Given the description of an element on the screen output the (x, y) to click on. 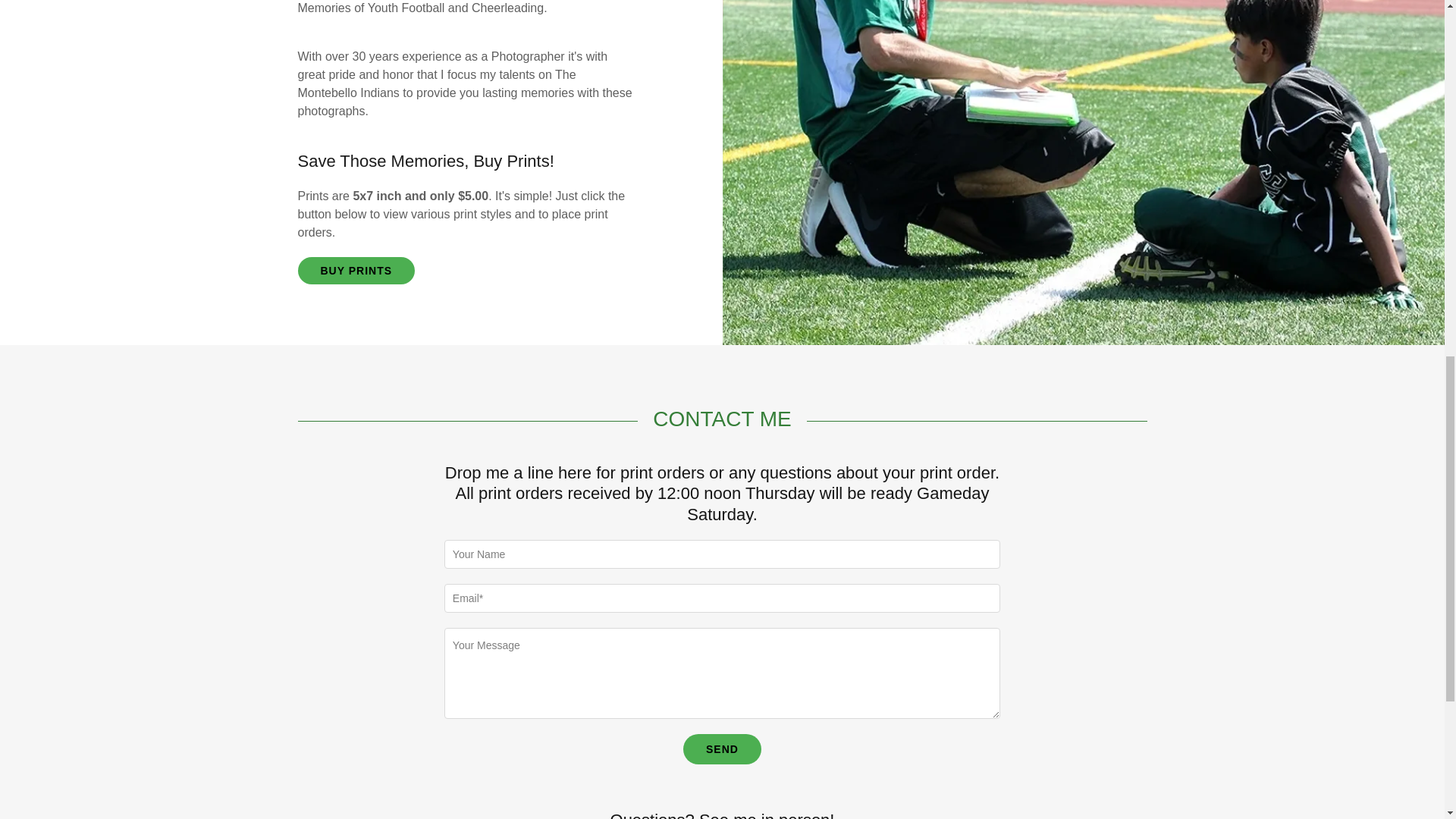
BUY PRINTS (355, 270)
SEND (721, 748)
